Given the description of an element on the screen output the (x, y) to click on. 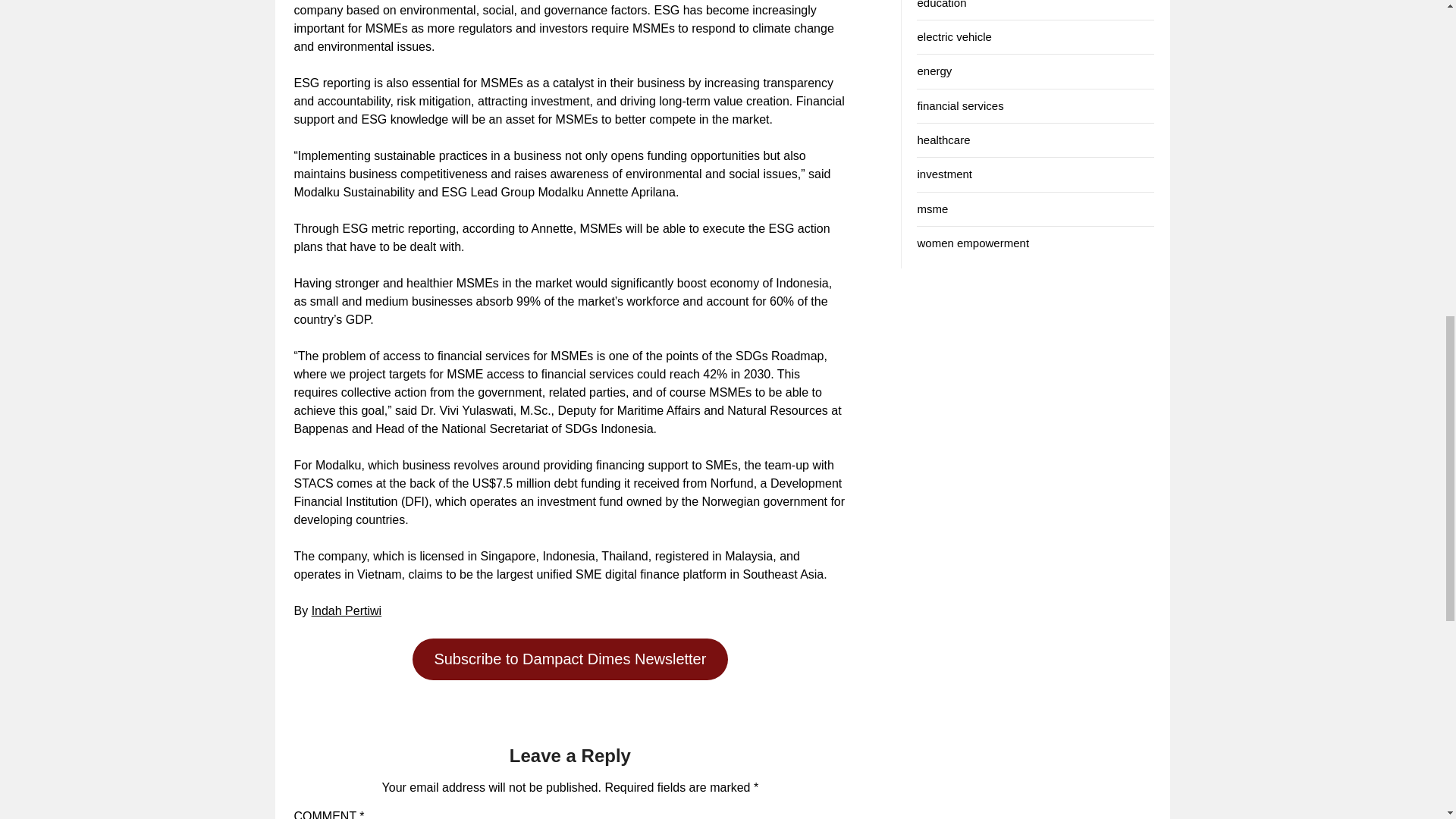
Indah Pertiwi (346, 610)
energy (934, 70)
Subscribe to Dampact Dimes Newsletter (570, 659)
investment (944, 173)
education (941, 4)
electric vehicle (954, 36)
financial services (960, 105)
msme (932, 208)
women empowerment (973, 242)
healthcare (943, 139)
